Given the description of an element on the screen output the (x, y) to click on. 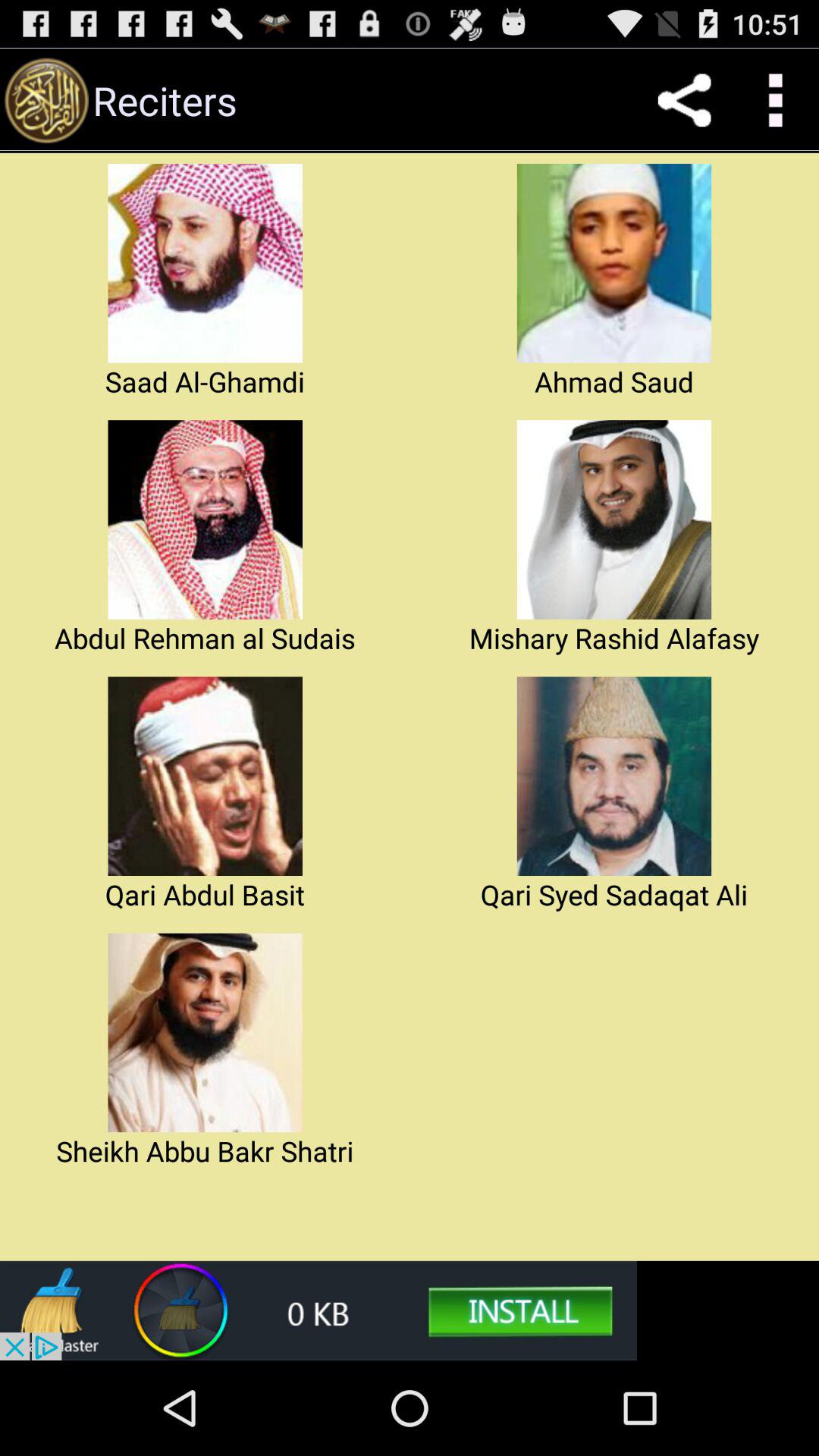
share to social media (684, 100)
